Given the description of an element on the screen output the (x, y) to click on. 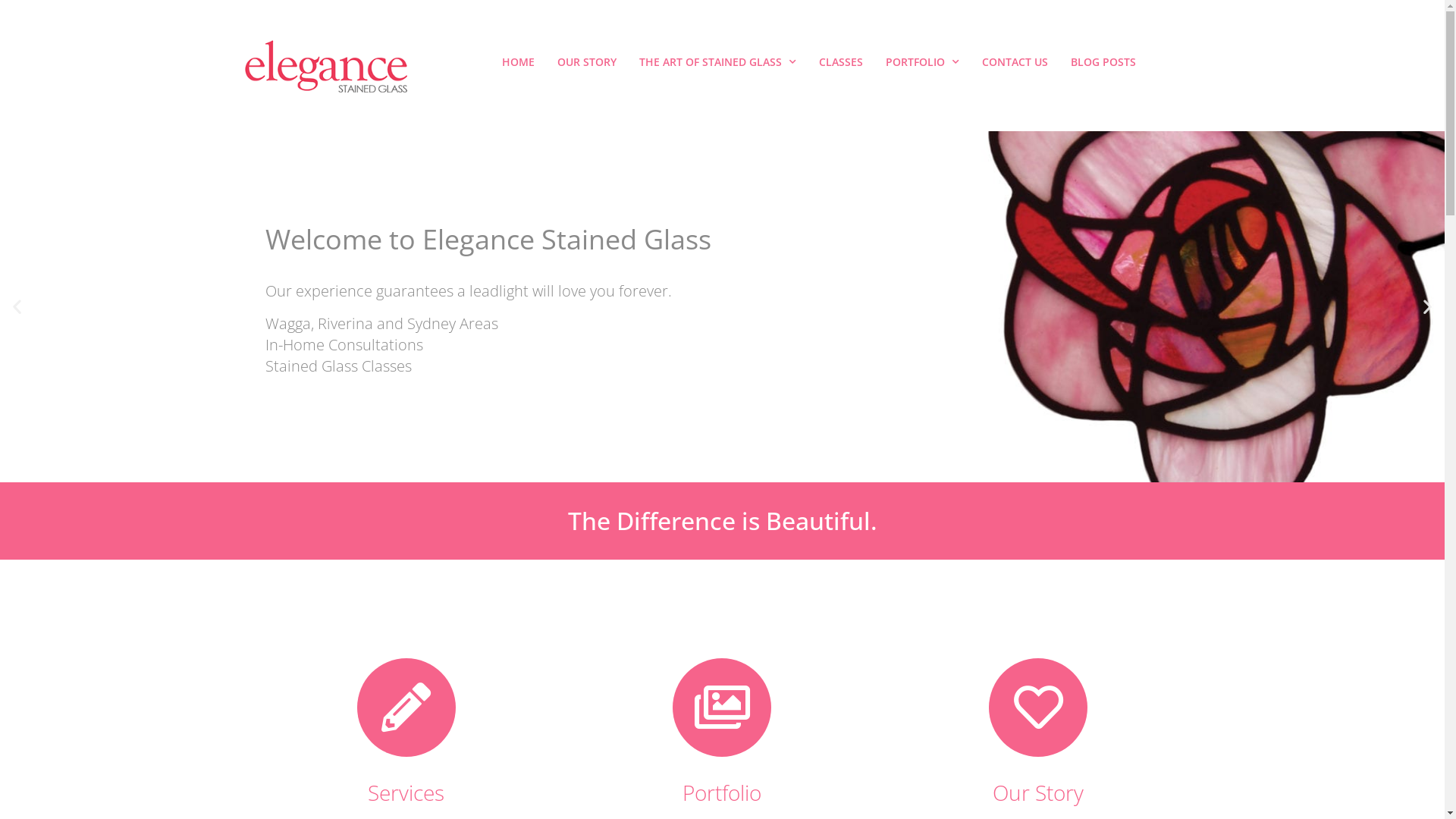
THE ART OF STAINED GLASS Element type: text (717, 61)
Our Story Element type: text (1037, 792)
HOME Element type: text (518, 61)
Portfolio Element type: text (721, 792)
Services Element type: text (405, 792)
BLOG POSTS Element type: text (1103, 61)
PORTFOLIO Element type: text (922, 61)
CLASSES Element type: text (840, 61)
OUR STORY Element type: text (586, 61)
CONTACT US Element type: text (1014, 61)
